Given the description of an element on the screen output the (x, y) to click on. 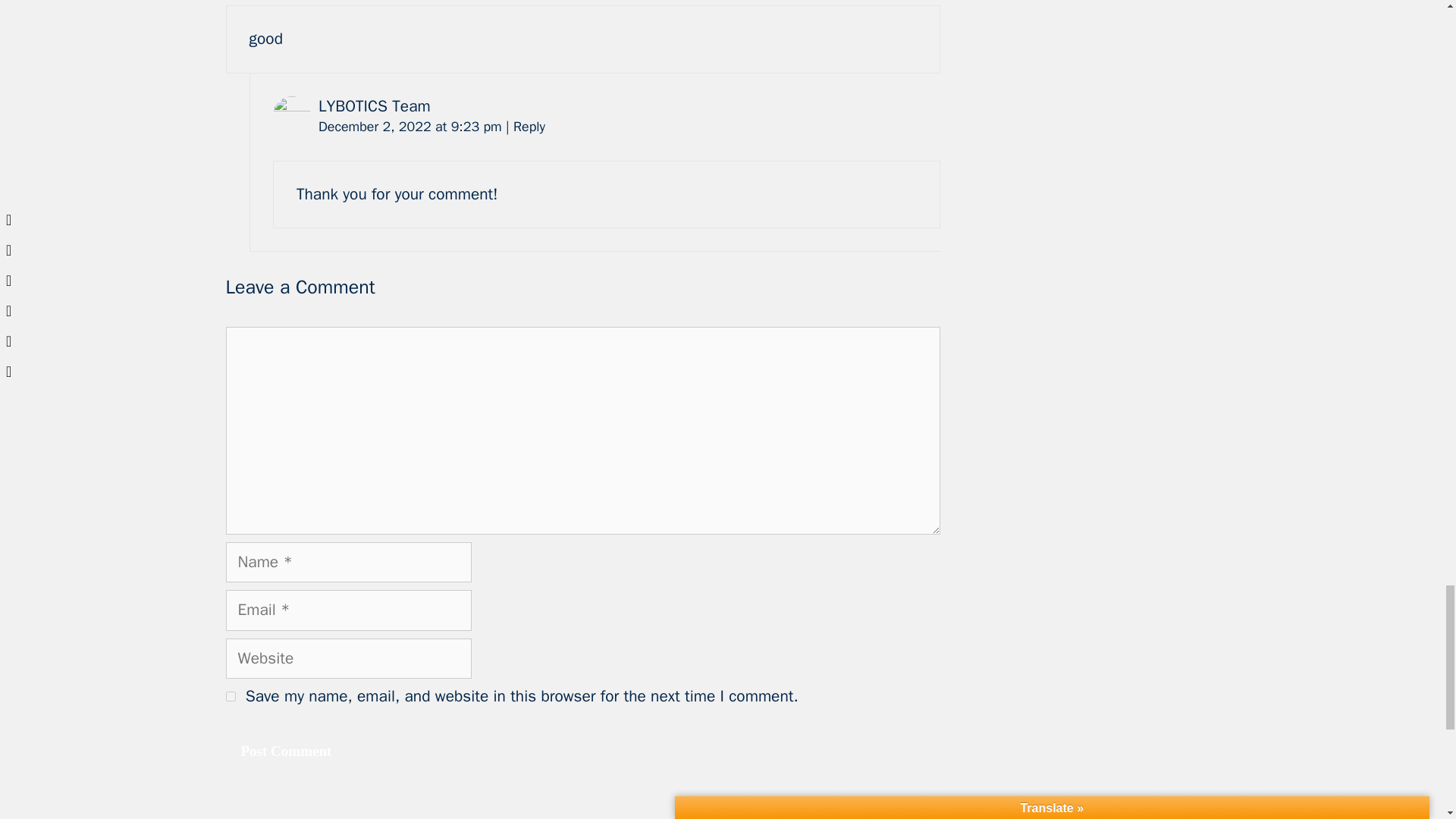
Post Comment (286, 751)
yes (230, 696)
